Given the description of an element on the screen output the (x, y) to click on. 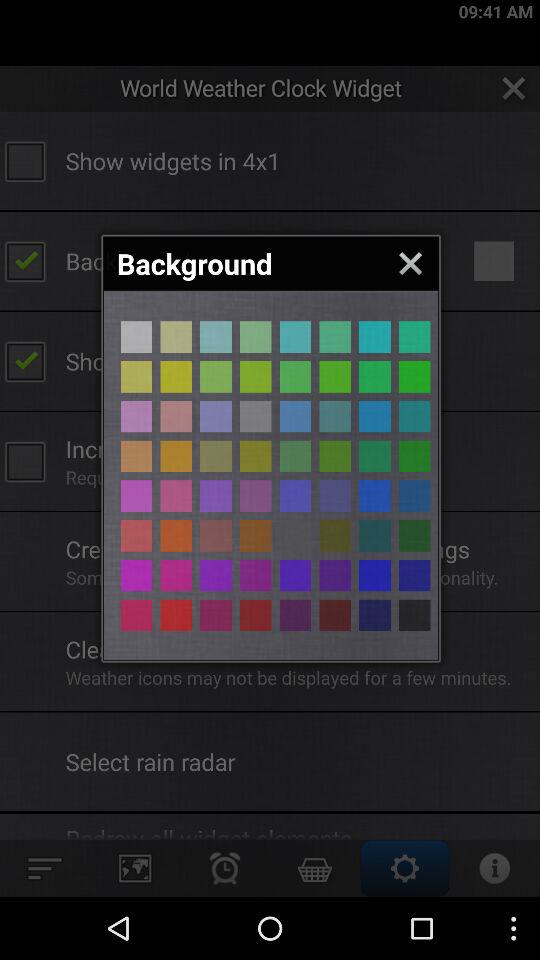
select colour (374, 495)
